Given the description of an element on the screen output the (x, y) to click on. 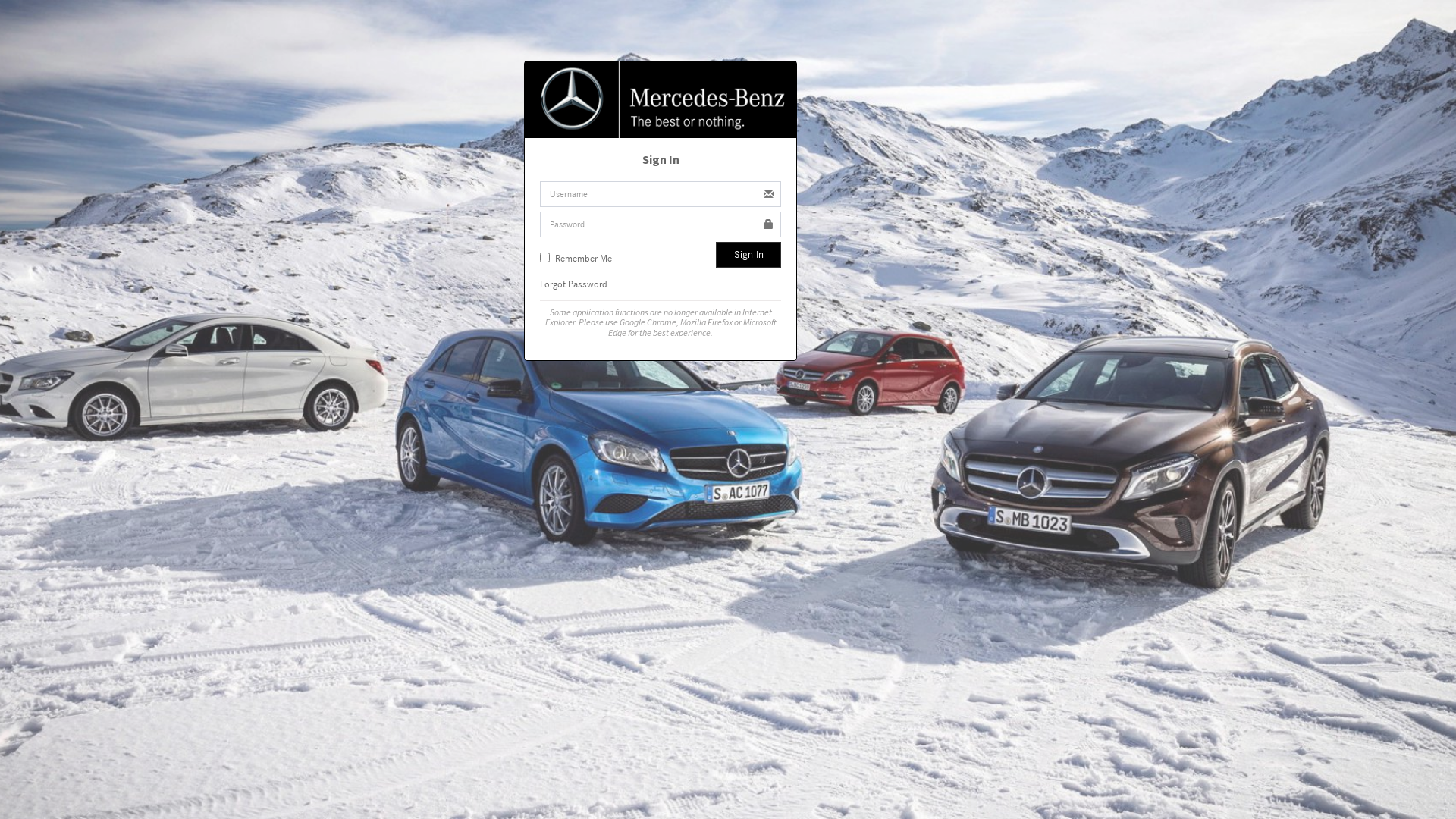
Sign In Element type: text (748, 254)
Forgot Password Element type: text (573, 283)
